Given the description of an element on the screen output the (x, y) to click on. 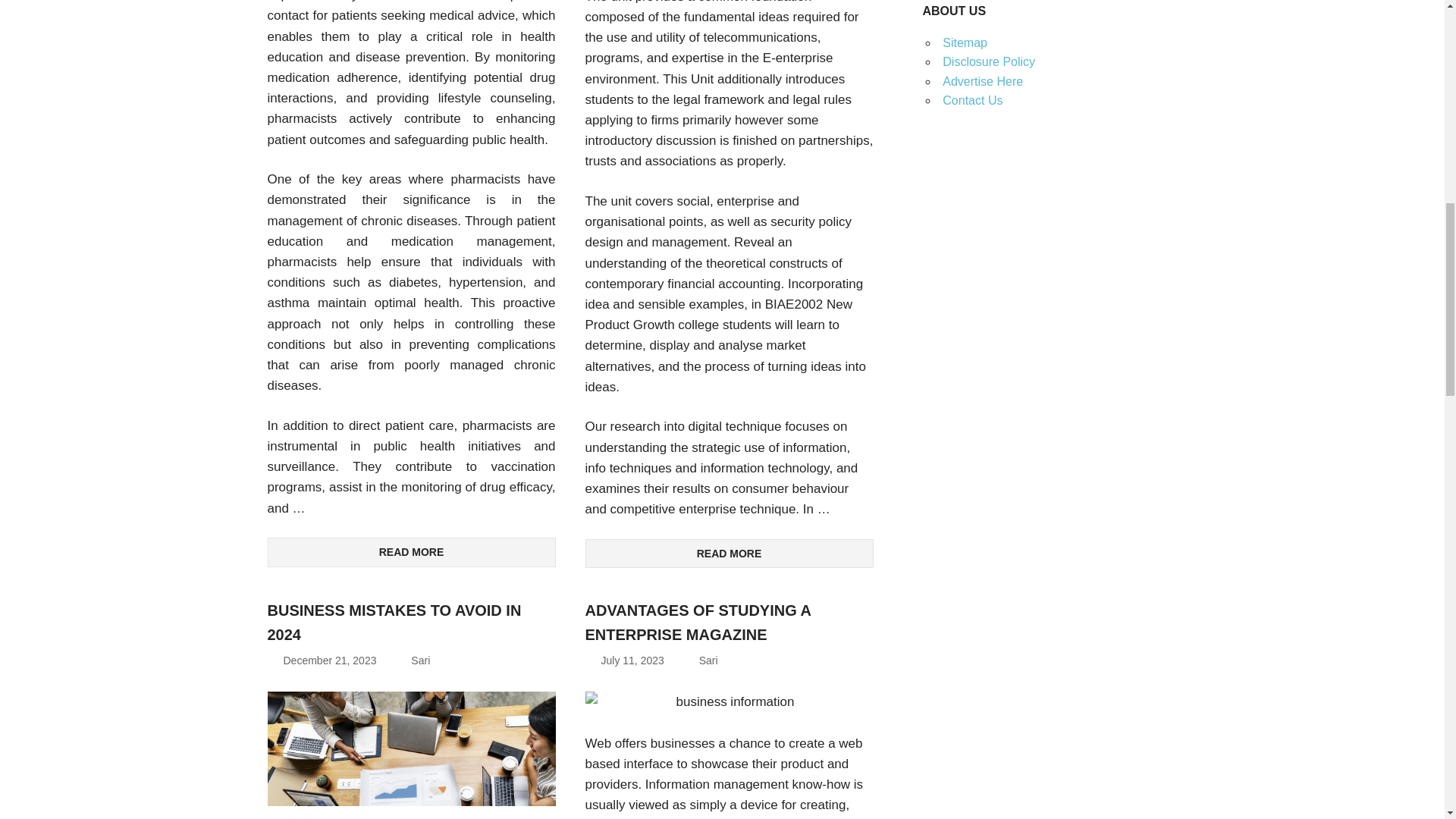
View all posts by Sari (419, 660)
READ MORE (410, 551)
View all posts by Sari (707, 660)
2:11 am (631, 660)
BUSINESS MISTAKES TO AVOID IN 2024 (393, 621)
3:29 am (330, 660)
READ MORE (729, 553)
